Given the description of an element on the screen output the (x, y) to click on. 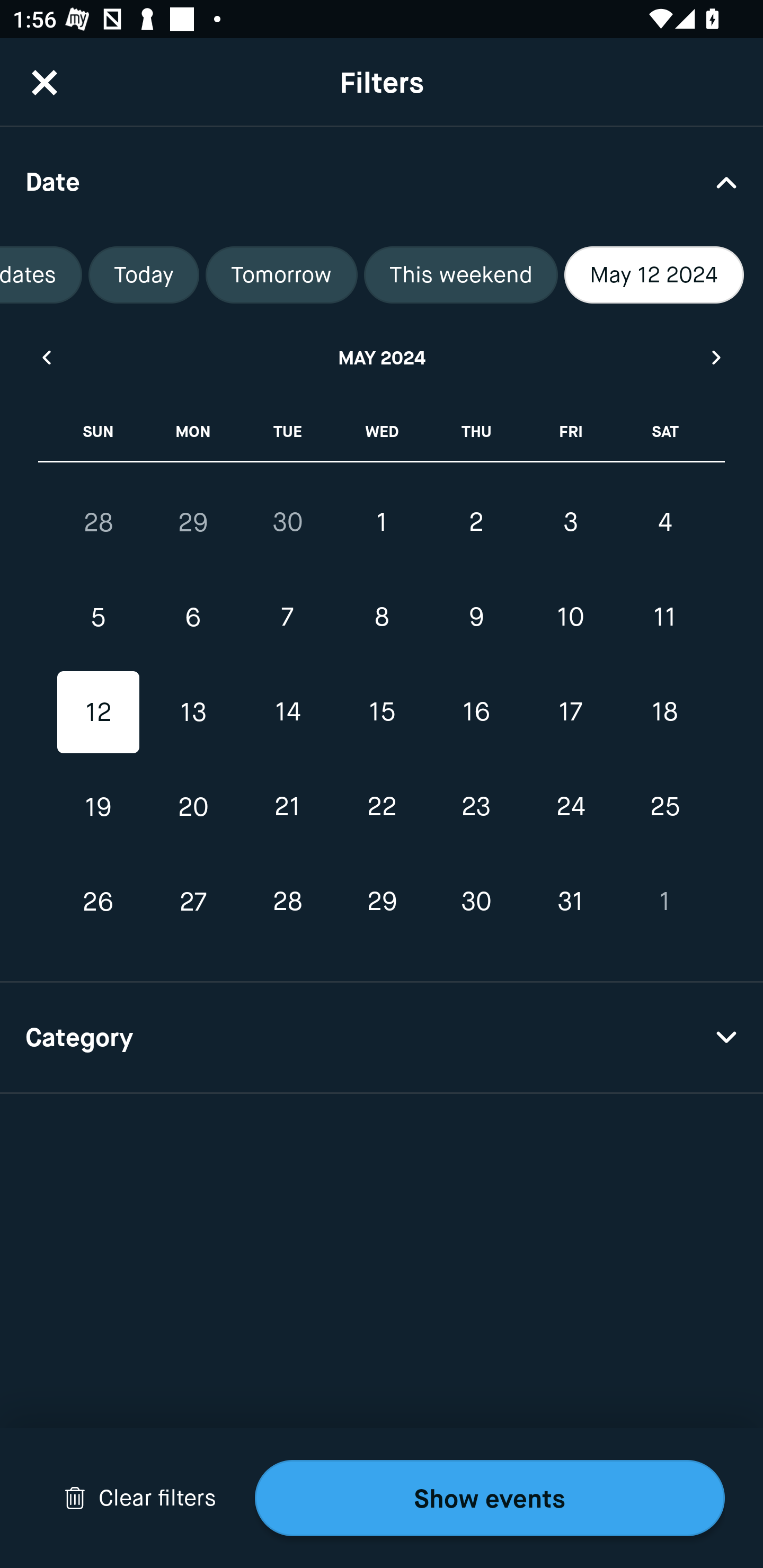
CloseButton (44, 82)
Date Drop Down Arrow (381, 181)
All dates (41, 274)
Today (143, 274)
Tomorrow (281, 274)
This weekend (460, 274)
May 12 2024 (653, 274)
Previous (45, 357)
Next (717, 357)
28 (98, 522)
29 (192, 522)
30 (287, 522)
1 (381, 522)
2 (475, 522)
3 (570, 522)
4 (664, 522)
5 (98, 617)
6 (192, 617)
7 (287, 617)
8 (381, 617)
9 (475, 617)
10 (570, 617)
11 (664, 617)
12 (98, 711)
13 (192, 711)
14 (287, 711)
15 (381, 711)
16 (475, 711)
17 (570, 711)
18 (664, 711)
19 (98, 806)
20 (192, 806)
21 (287, 806)
22 (381, 806)
23 (475, 806)
24 (570, 806)
25 (664, 806)
26 (98, 901)
27 (192, 901)
28 (287, 901)
29 (381, 901)
30 (475, 901)
31 (570, 901)
1 (664, 901)
Category Drop Down Arrow (381, 1038)
Drop Down Arrow Clear filters (139, 1497)
Show events (489, 1497)
